Given the description of an element on the screen output the (x, y) to click on. 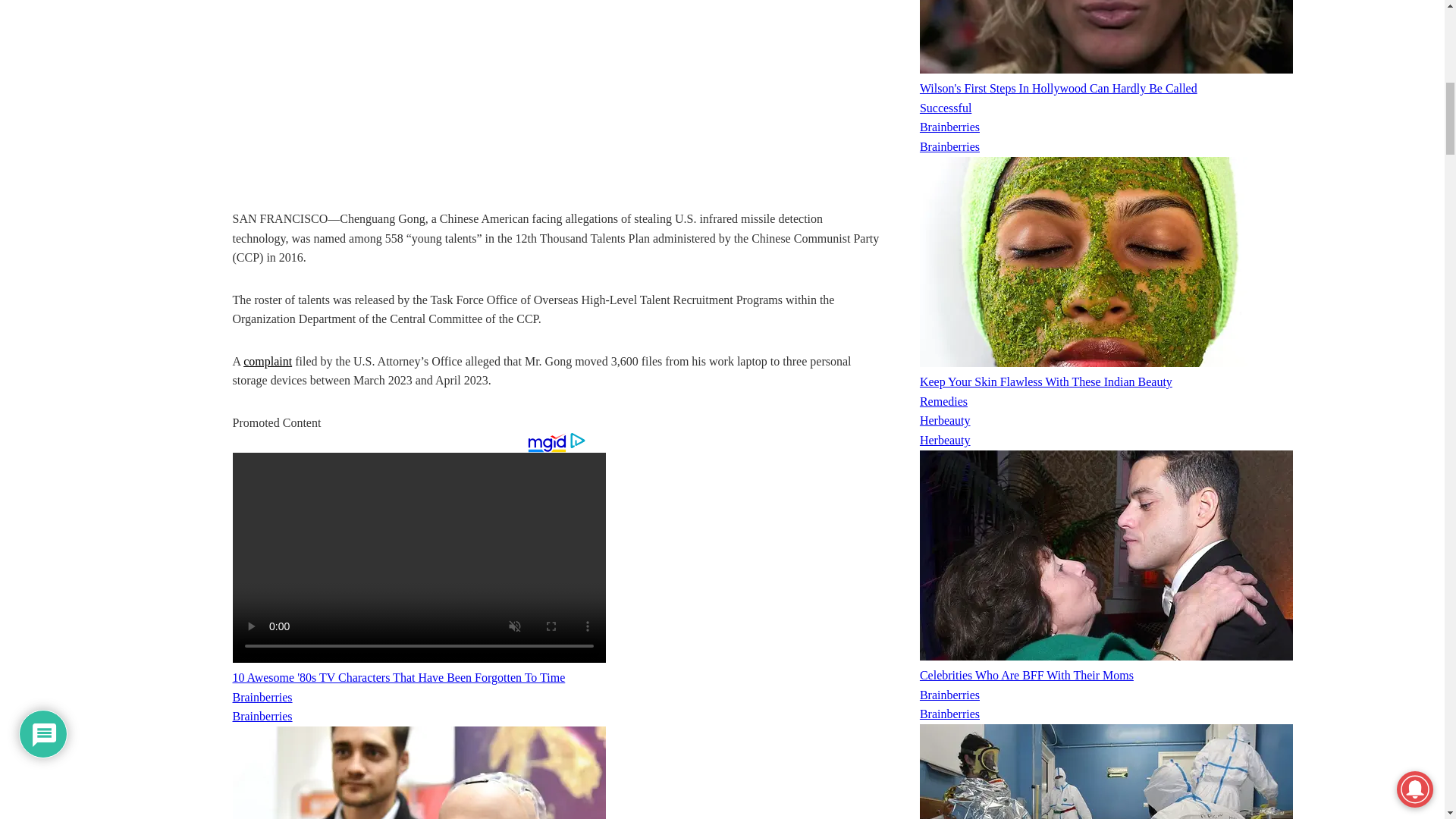
complaint (267, 360)
